Given the description of an element on the screen output the (x, y) to click on. 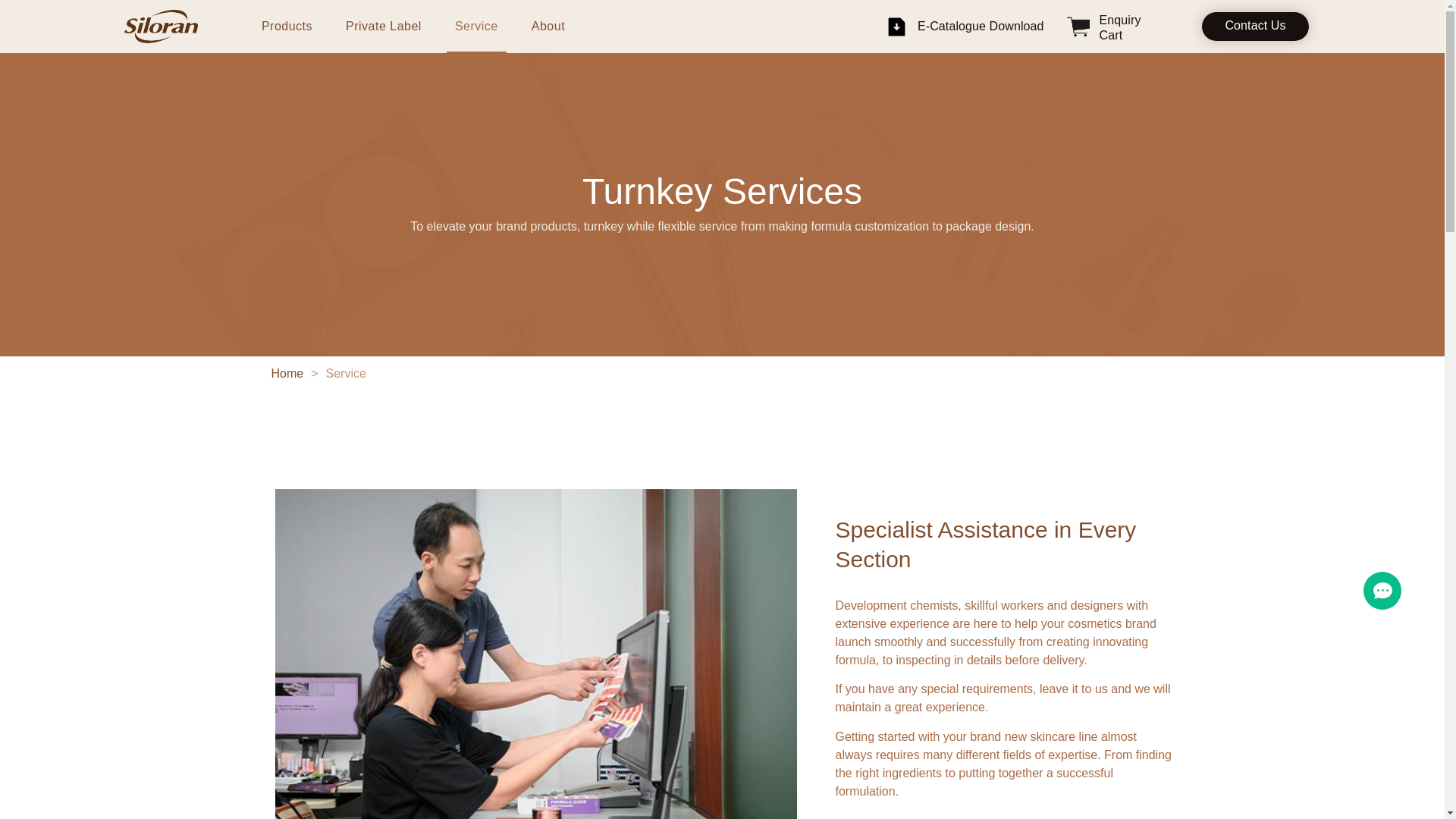
About (547, 26)
Service (476, 26)
Private Label (383, 26)
Products (286, 26)
